Given the description of an element on the screen output the (x, y) to click on. 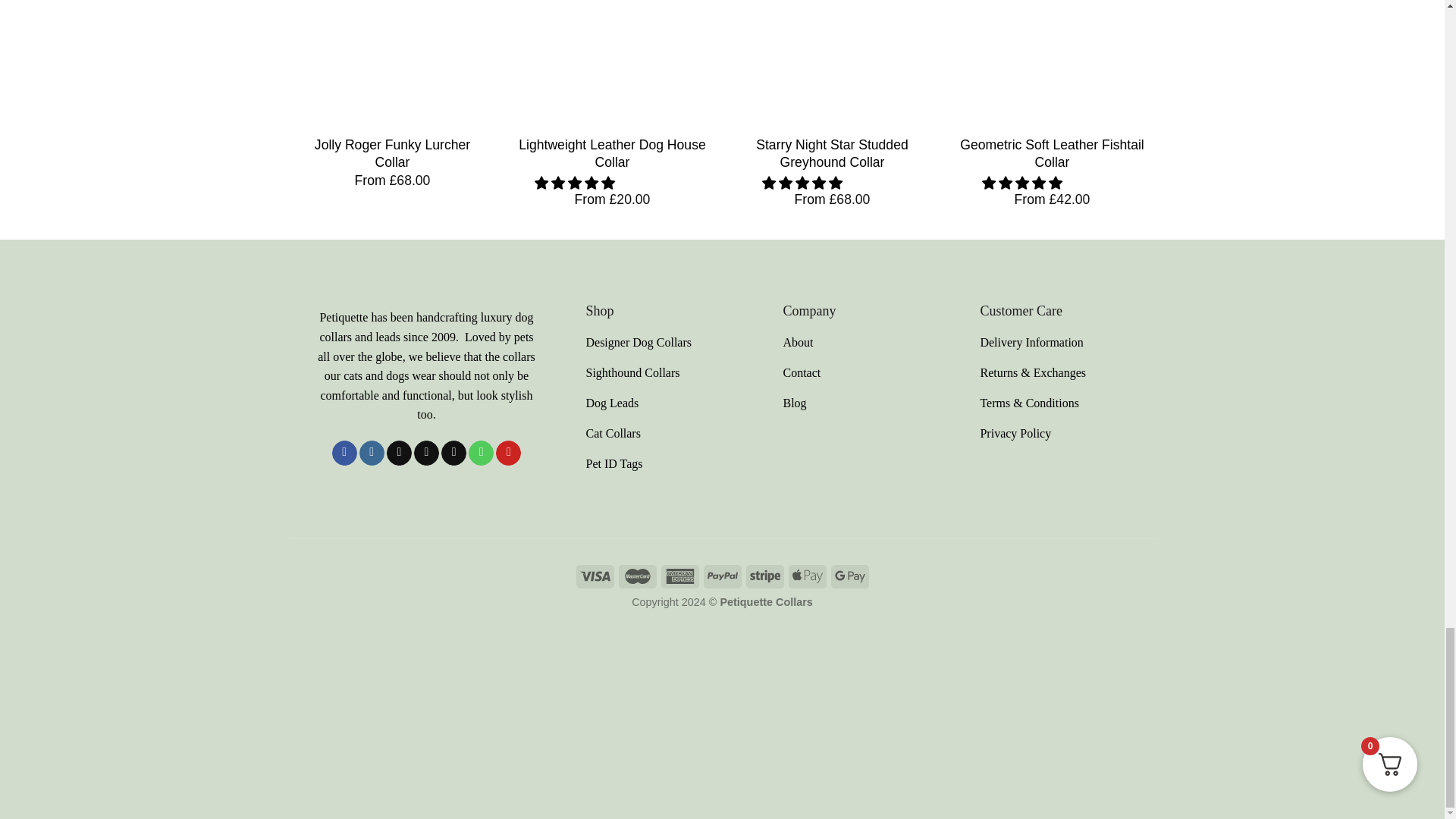
Follow on X (426, 453)
Follow on Facebook (343, 453)
Follow on Instagram (371, 453)
Follow on TikTok (399, 453)
